Given the description of an element on the screen output the (x, y) to click on. 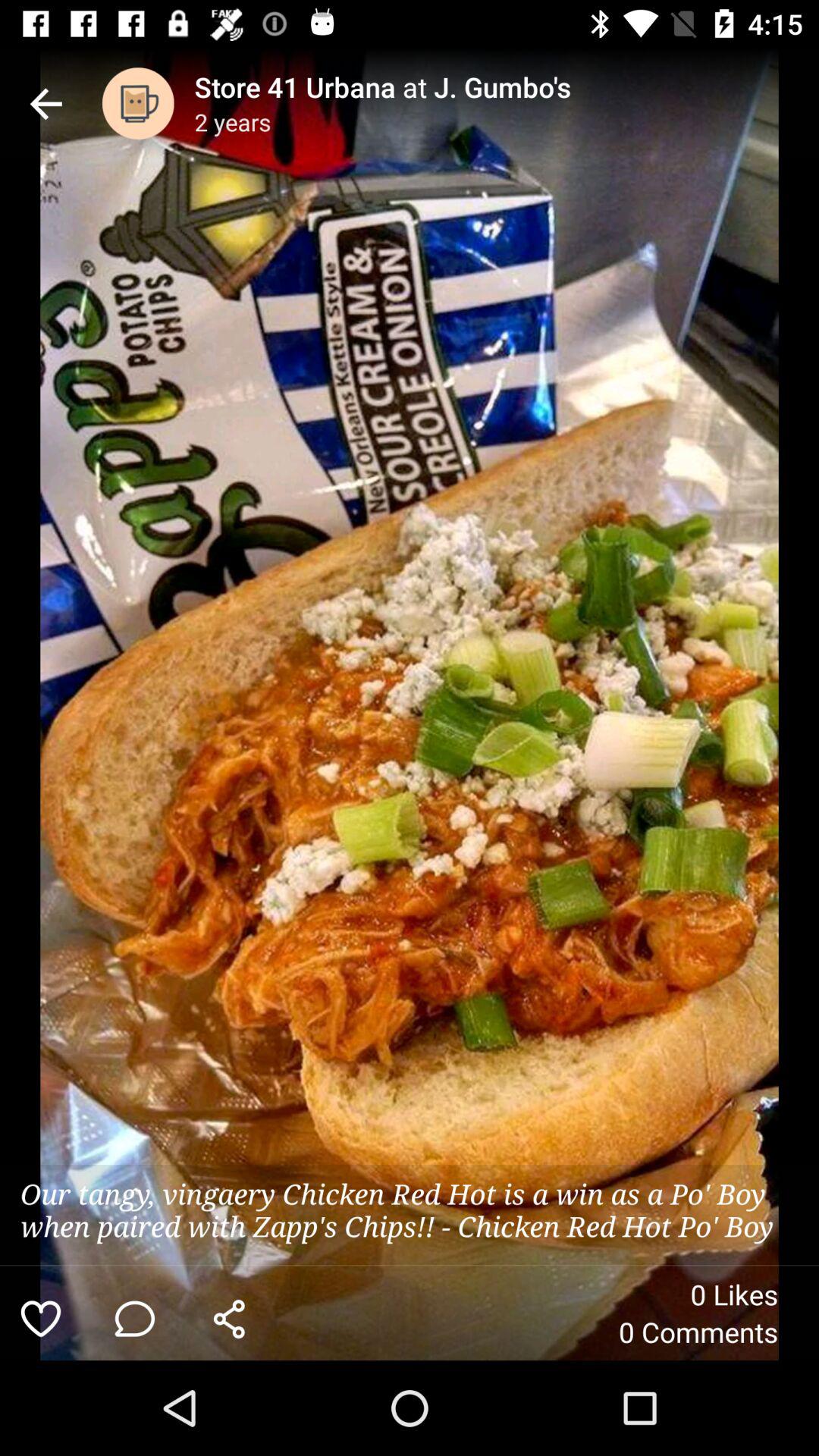
click item above our tangy vingaery item (138, 103)
